Given the description of an element on the screen output the (x, y) to click on. 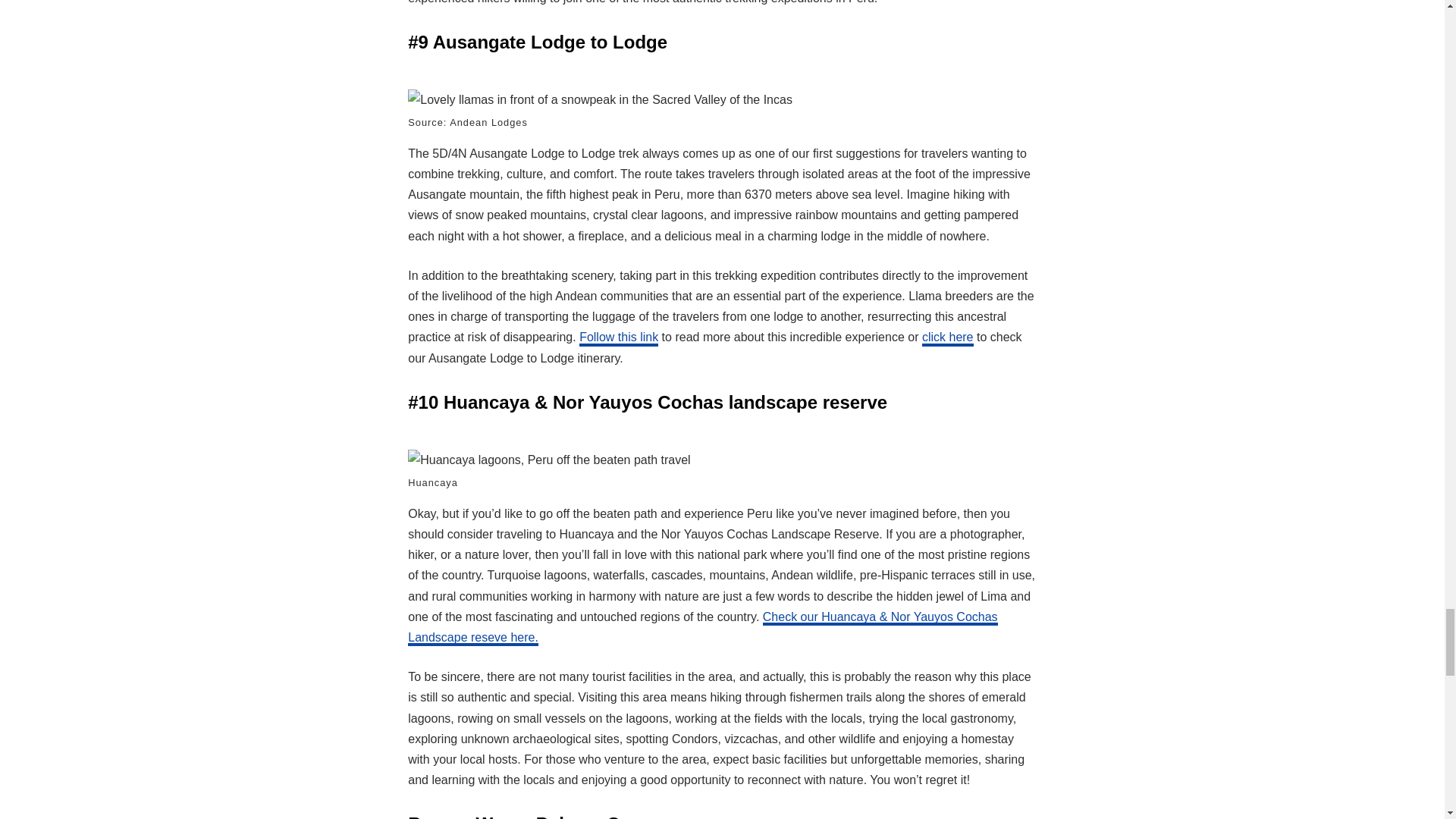
Follow this link (618, 338)
click here (947, 338)
